Given the description of an element on the screen output the (x, y) to click on. 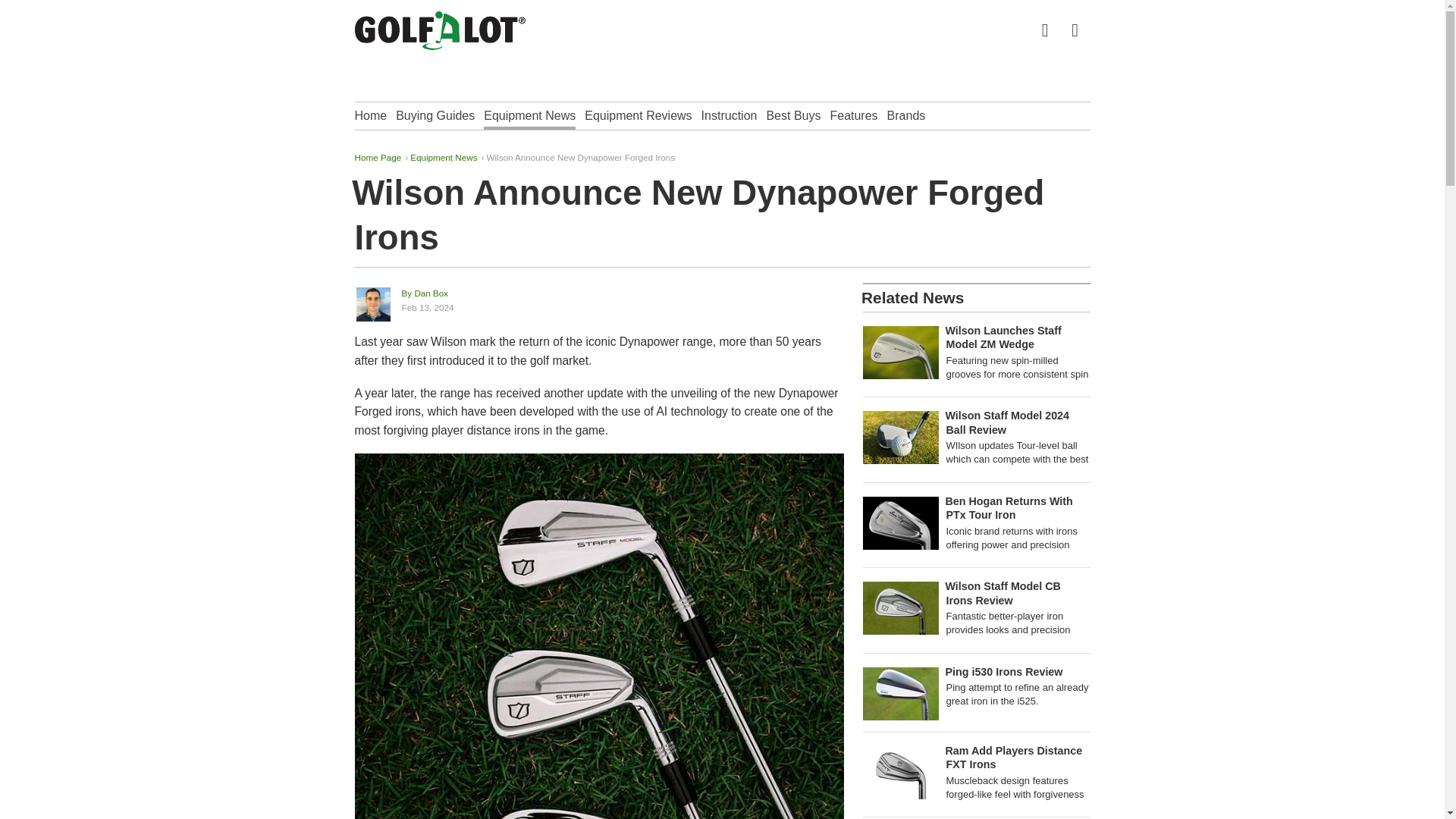
Brands (906, 115)
Home (371, 115)
Home Page (378, 157)
Best Buys (793, 115)
Equipment News (600, 300)
Equipment News (529, 115)
Features (443, 157)
Buying Guides (853, 115)
Instruction (435, 115)
